Given the description of an element on the screen output the (x, y) to click on. 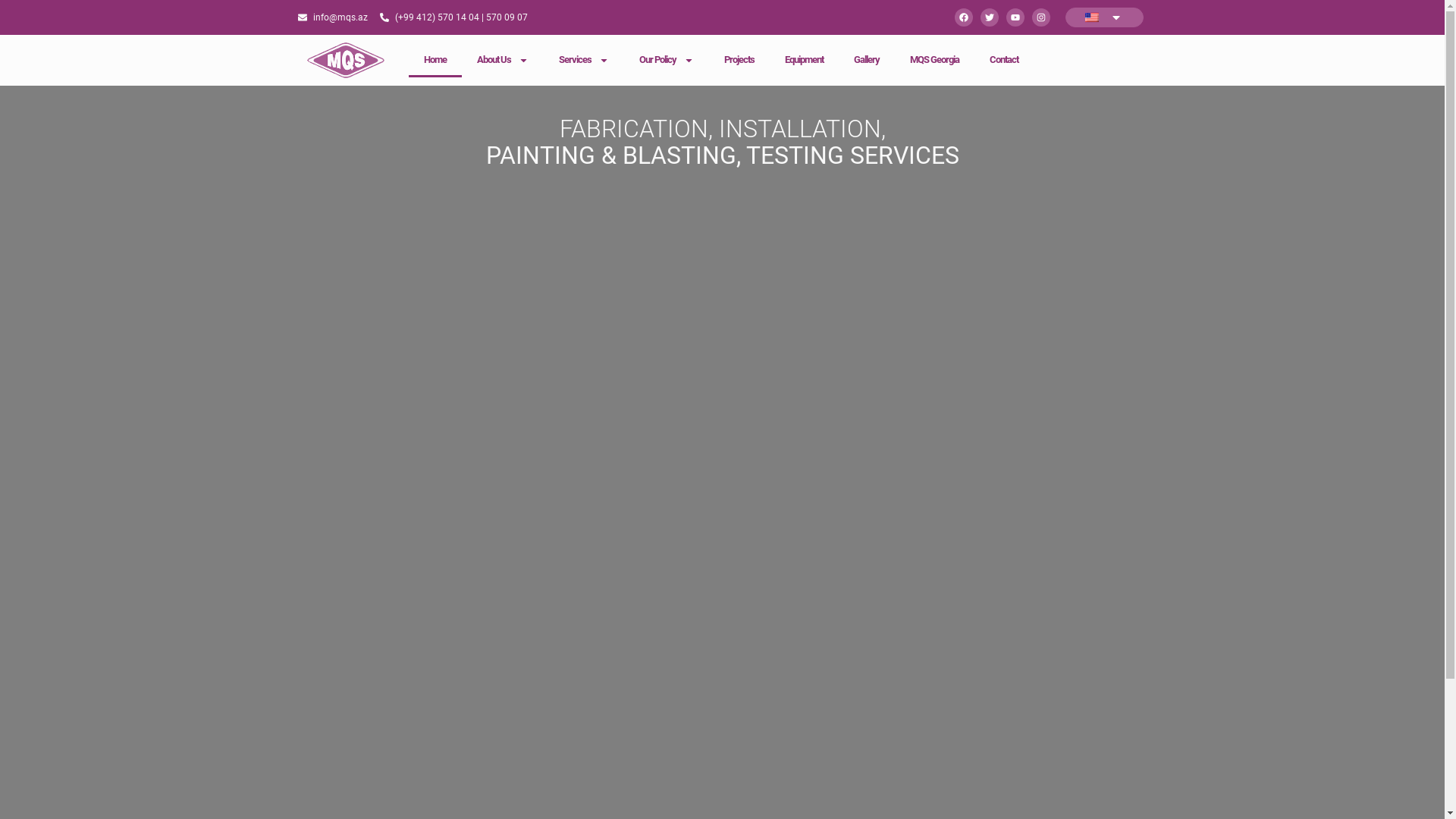
MQS Georgia Element type: text (934, 59)
Our Policy Element type: text (666, 59)
Projects Element type: text (739, 59)
Gallery Element type: text (866, 59)
Services Element type: text (583, 59)
About Us Element type: text (502, 59)
Equipment Element type: text (803, 59)
Home Element type: text (434, 59)
Contact Element type: text (1003, 59)
English Element type: hover (1091, 16)
